Given the description of an element on the screen output the (x, y) to click on. 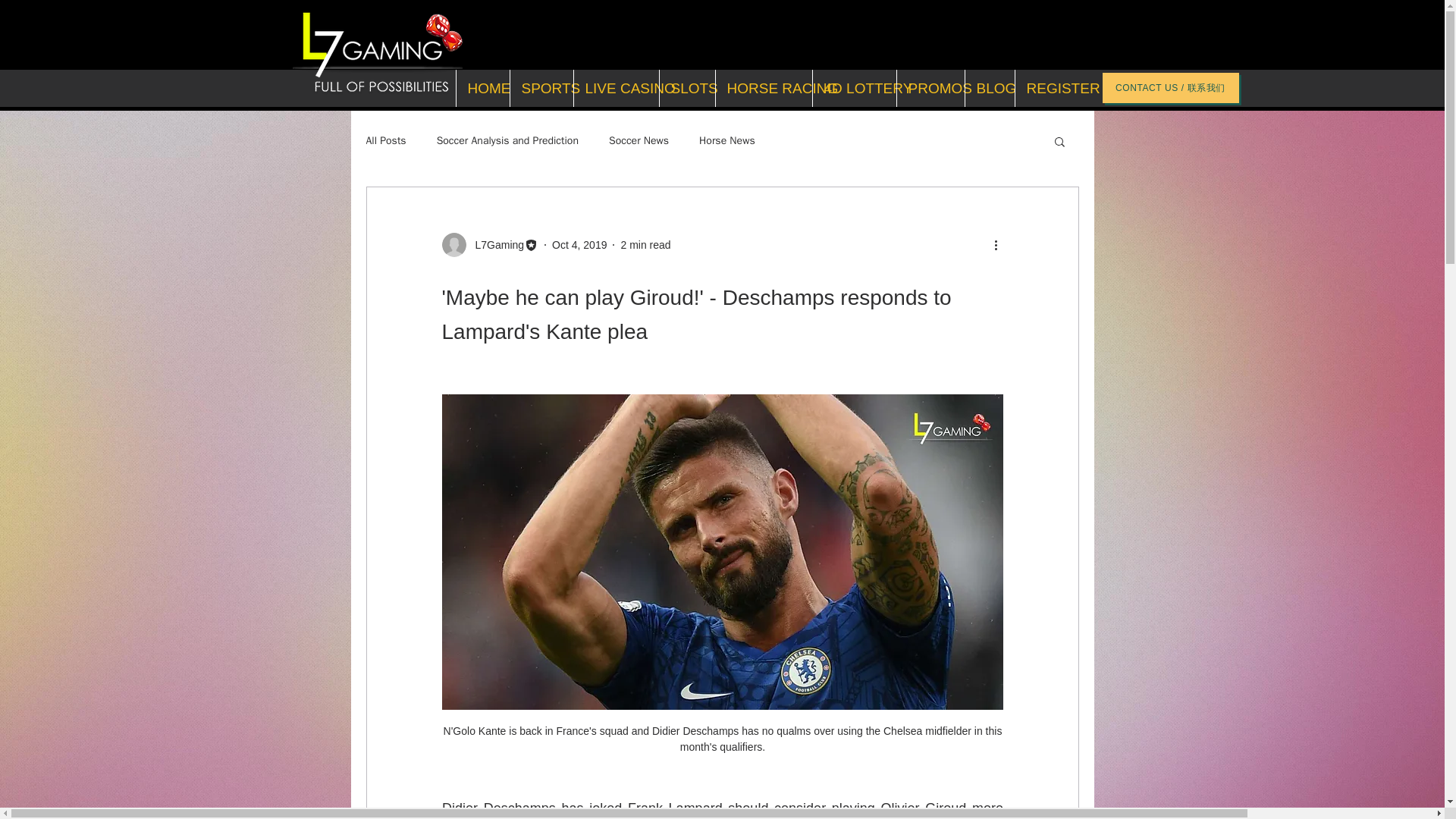
HOME (481, 88)
LIVE CASINO (616, 88)
4D LOTTERY (852, 88)
Soccer Analysis and Prediction (507, 141)
L7Gaming (489, 244)
REGISTER (1050, 88)
Soccer News (638, 141)
All Posts (385, 141)
Horse News (726, 141)
PROMOS (929, 88)
BLOG (988, 88)
SLOTS (686, 88)
SPORTS (541, 88)
2 min read (644, 244)
Oct 4, 2019 (579, 244)
